Given the description of an element on the screen output the (x, y) to click on. 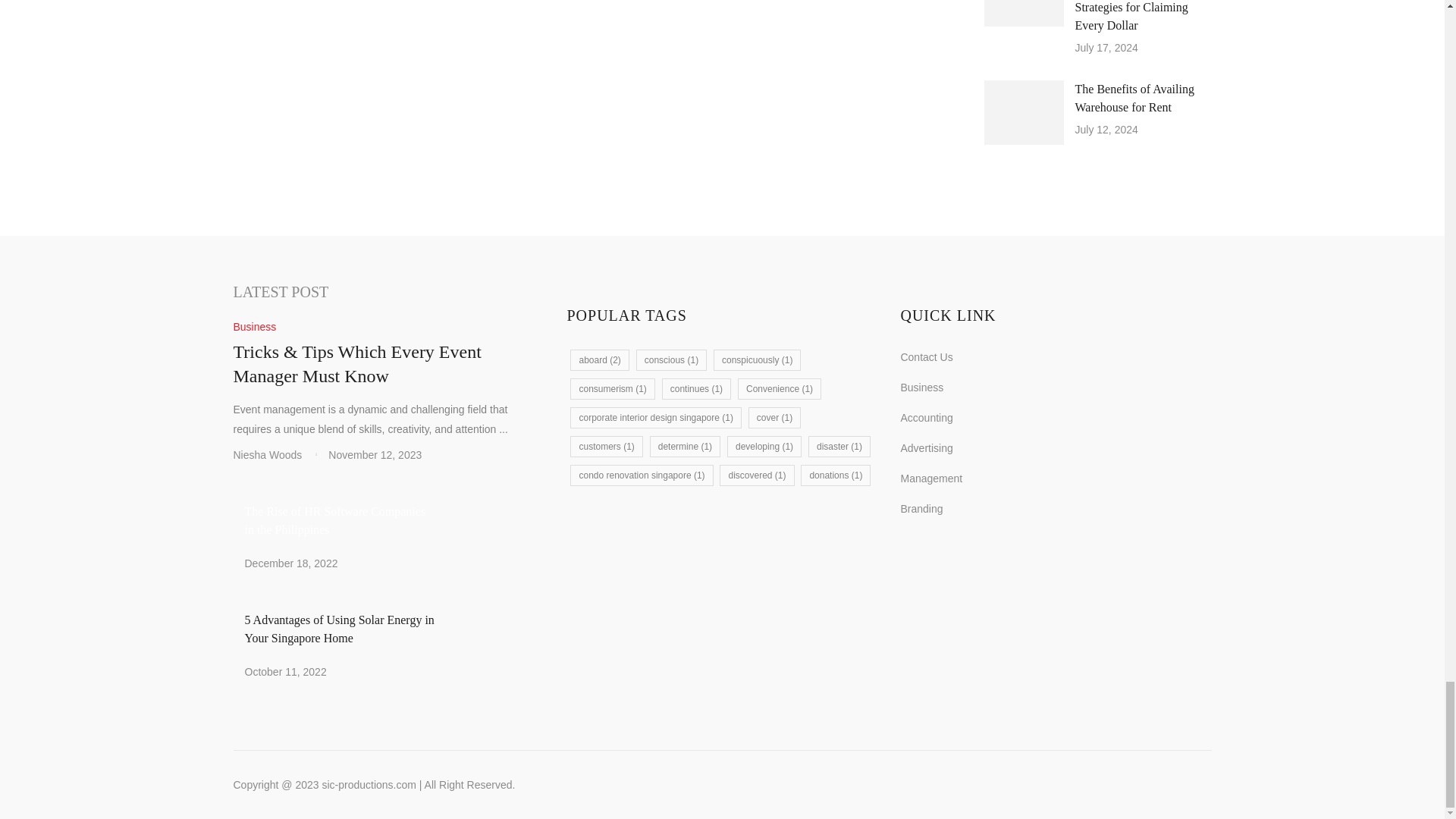
View all posts in Business (254, 326)
